Given the description of an element on the screen output the (x, y) to click on. 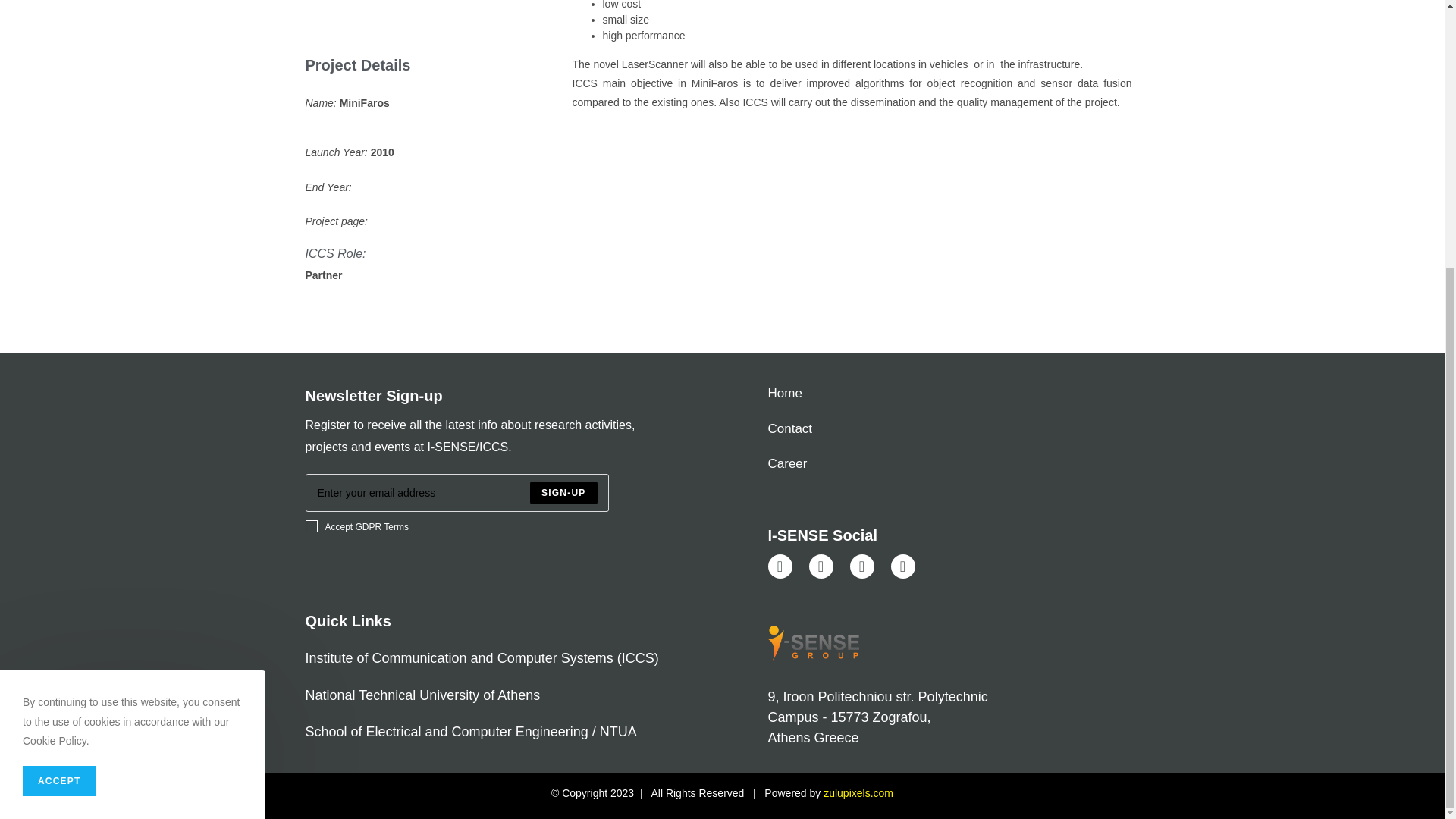
Enter your email address (456, 492)
1 (310, 526)
